Given the description of an element on the screen output the (x, y) to click on. 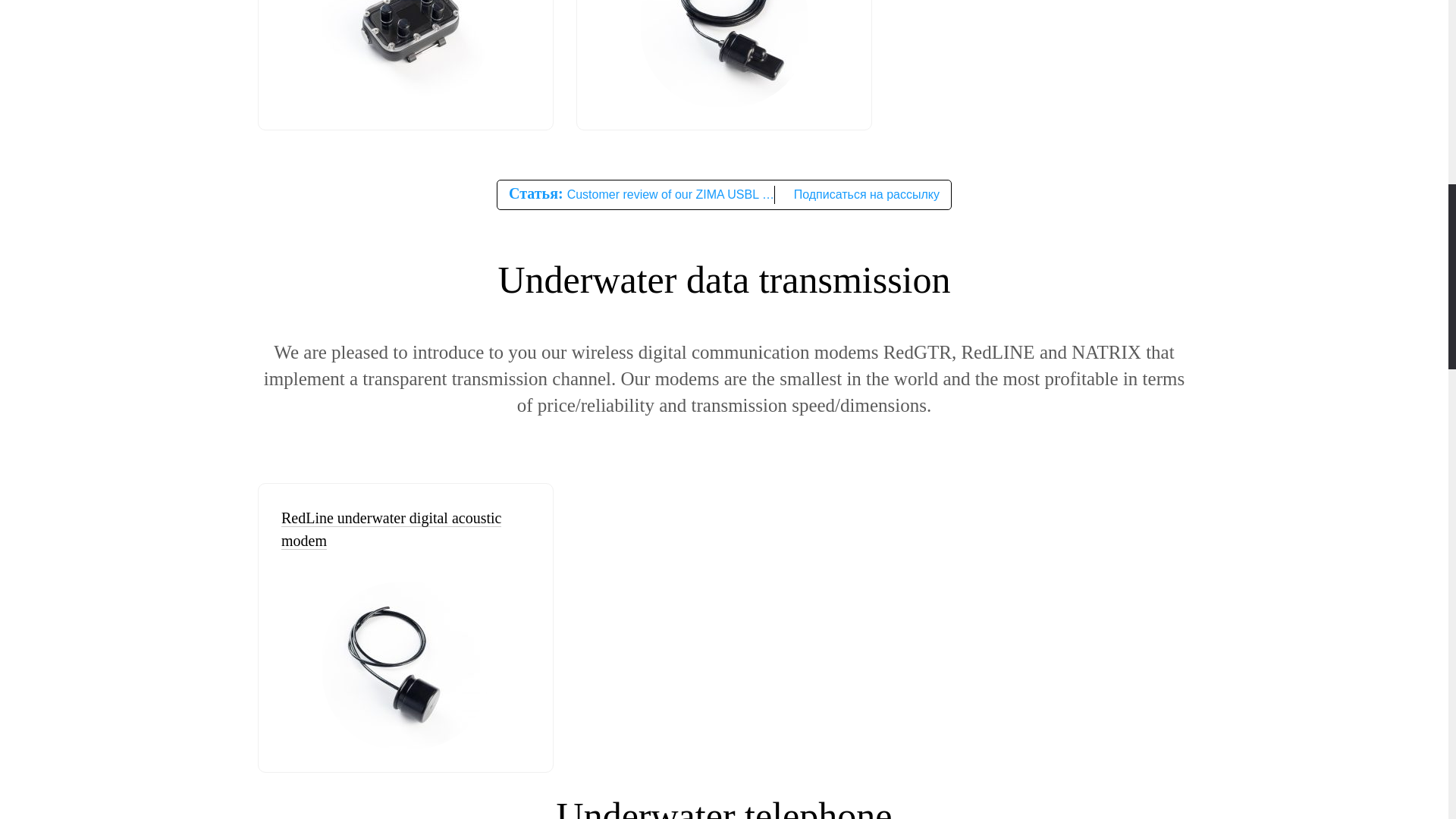
RedNODE acoustic navigation receiver (405, 665)
VOSTOK underwater navigation system for divers (405, 53)
